Given the description of an element on the screen output the (x, y) to click on. 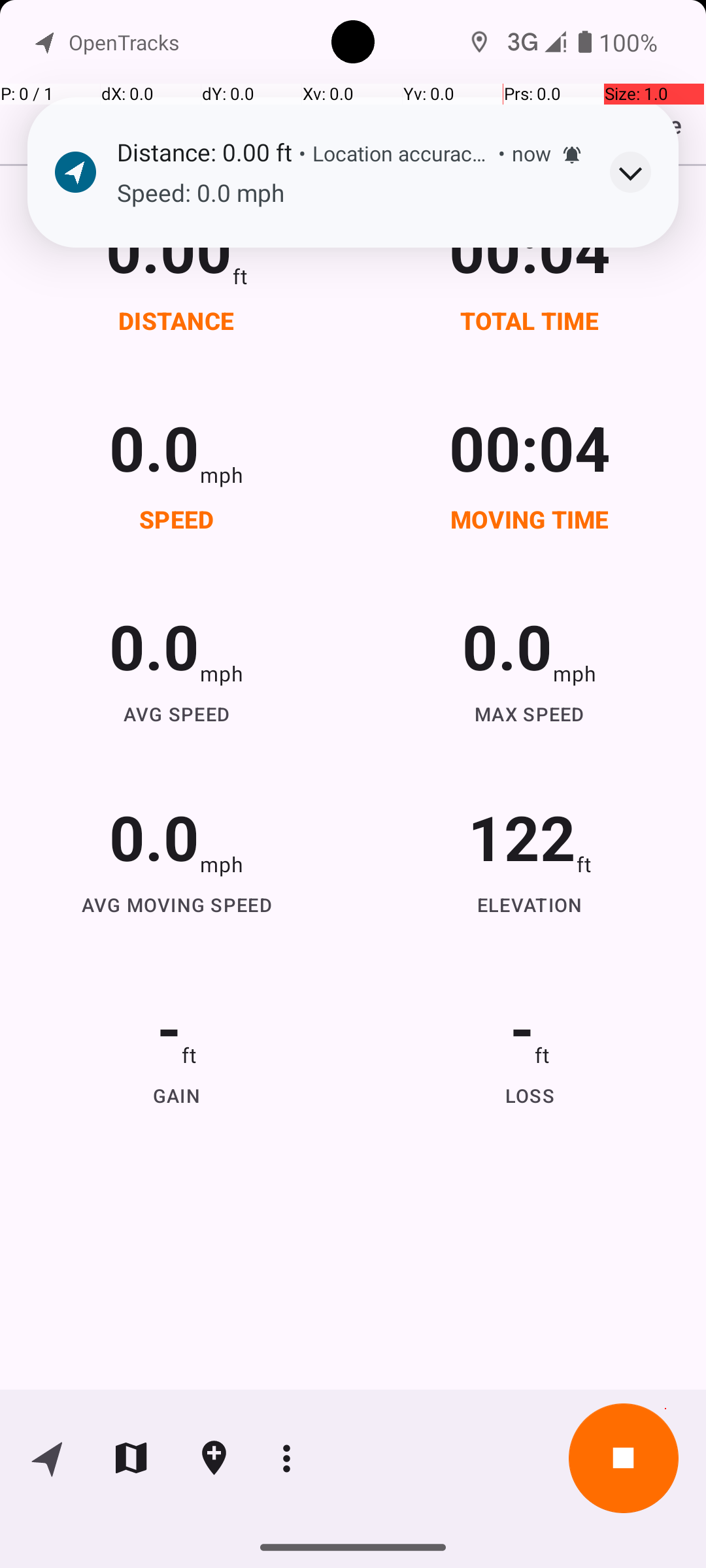
Insert marker Element type: android.widget.Button (213, 1458)
Stop Element type: android.widget.ImageButton (623, 1458)
0.00 Element type: android.widget.TextView (168, 248)
00:04 Element type: android.widget.TextView (529, 248)
0.0 Element type: android.widget.TextView (154, 446)
122 Element type: android.widget.TextView (521, 836)
- Element type: android.widget.TextView (168, 1026)
Off Element type: android.widget.Switch (518, 101)
Speed: 0.0 mph Element type: android.widget.TextView (349, 192)
Expand Element type: android.widget.Button (630, 172)
Distance: 0.00 ft Element type: android.widget.TextView (204, 151)
• Element type: android.widget.TextView (301, 153)
Location accuracy: 16.40 ft Element type: android.widget.TextView (401, 153)
now Element type: android.widget.TextView (531, 153)
Alerted Element type: android.widget.ImageView (571, 154)
